Given the description of an element on the screen output the (x, y) to click on. 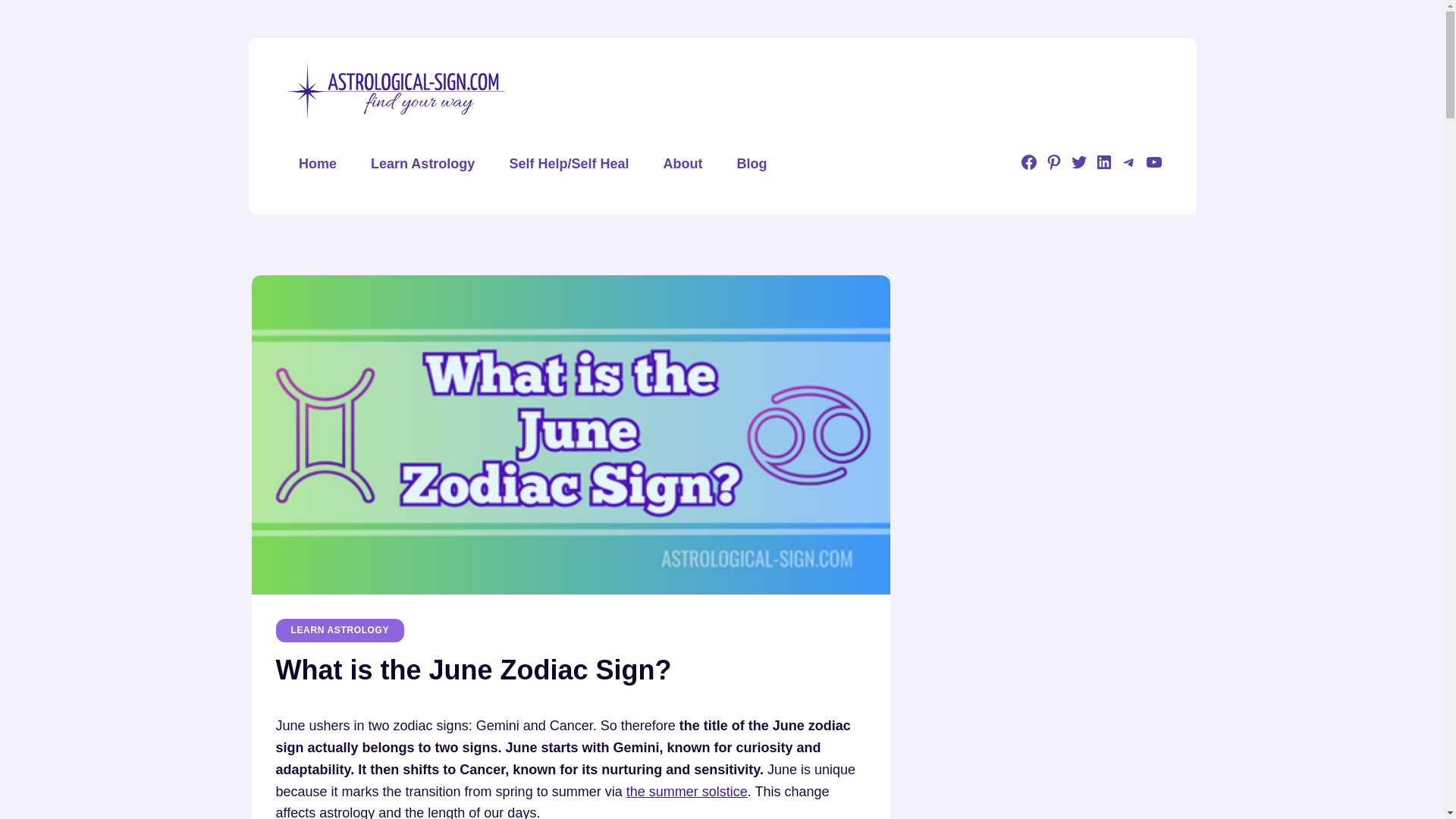
Telegram (1128, 166)
the summer solstice (687, 791)
Twitter (1077, 166)
Blog (751, 164)
Facebook (1027, 166)
Home (317, 164)
About (682, 164)
Pinterest (1053, 166)
Learn Astrology (422, 164)
LinkedIn (1103, 166)
LEARN ASTROLOGY (340, 630)
YouTube (1153, 166)
